Given the description of an element on the screen output the (x, y) to click on. 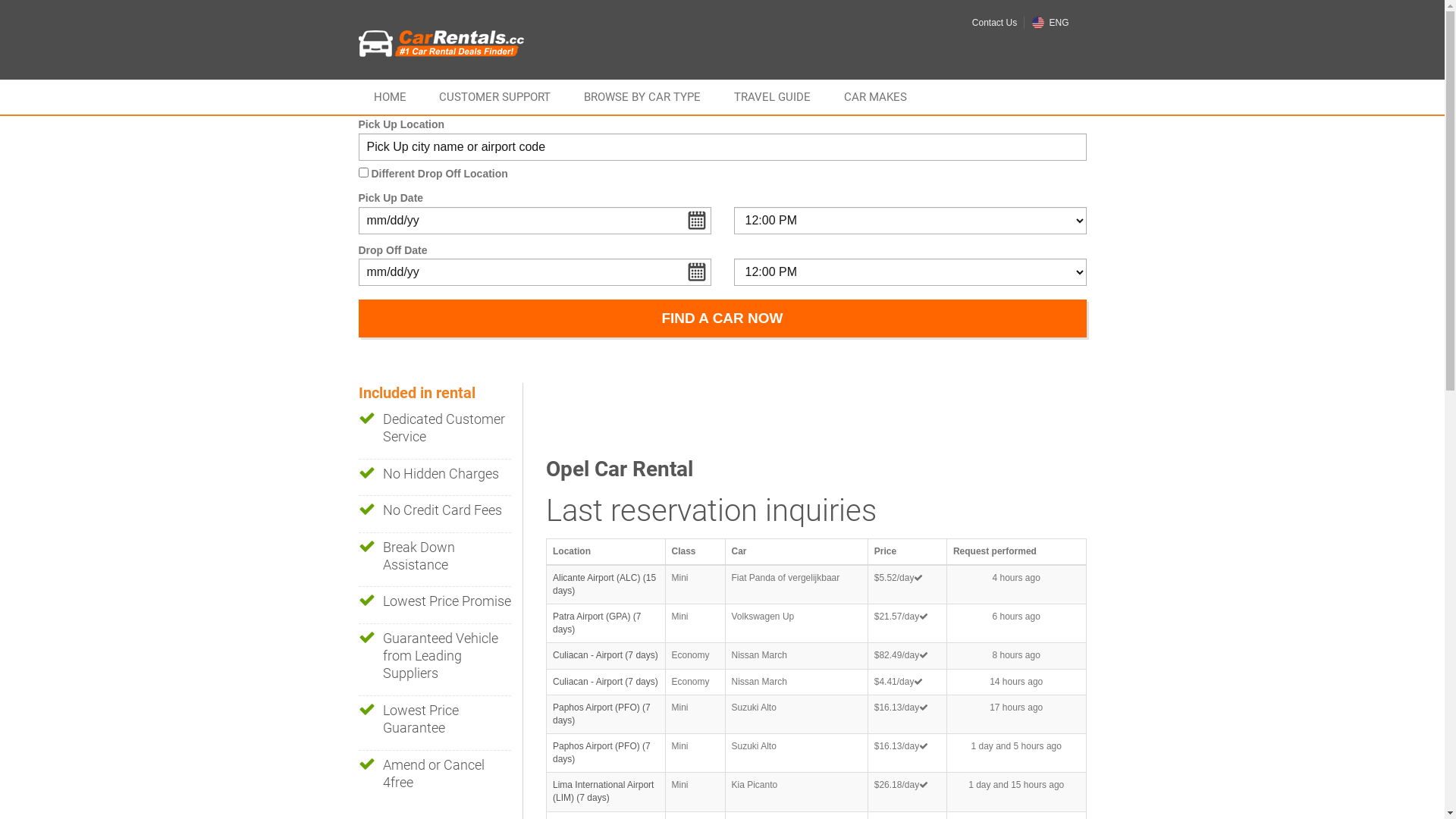
TRAVEL GUIDE Element type: text (771, 96)
BROWSE BY CAR TYPE Element type: text (641, 96)
ENG Element type: text (1050, 22)
CUSTOMER SUPPORT Element type: text (494, 96)
en Element type: hover (1038, 22)
Contact Us Element type: text (994, 22)
FIND A CAR NOW Element type: text (721, 318)
Advertisement Element type: hover (822, 416)
HOME Element type: text (388, 96)
CAR MAKES Element type: text (875, 96)
